Given the description of an element on the screen output the (x, y) to click on. 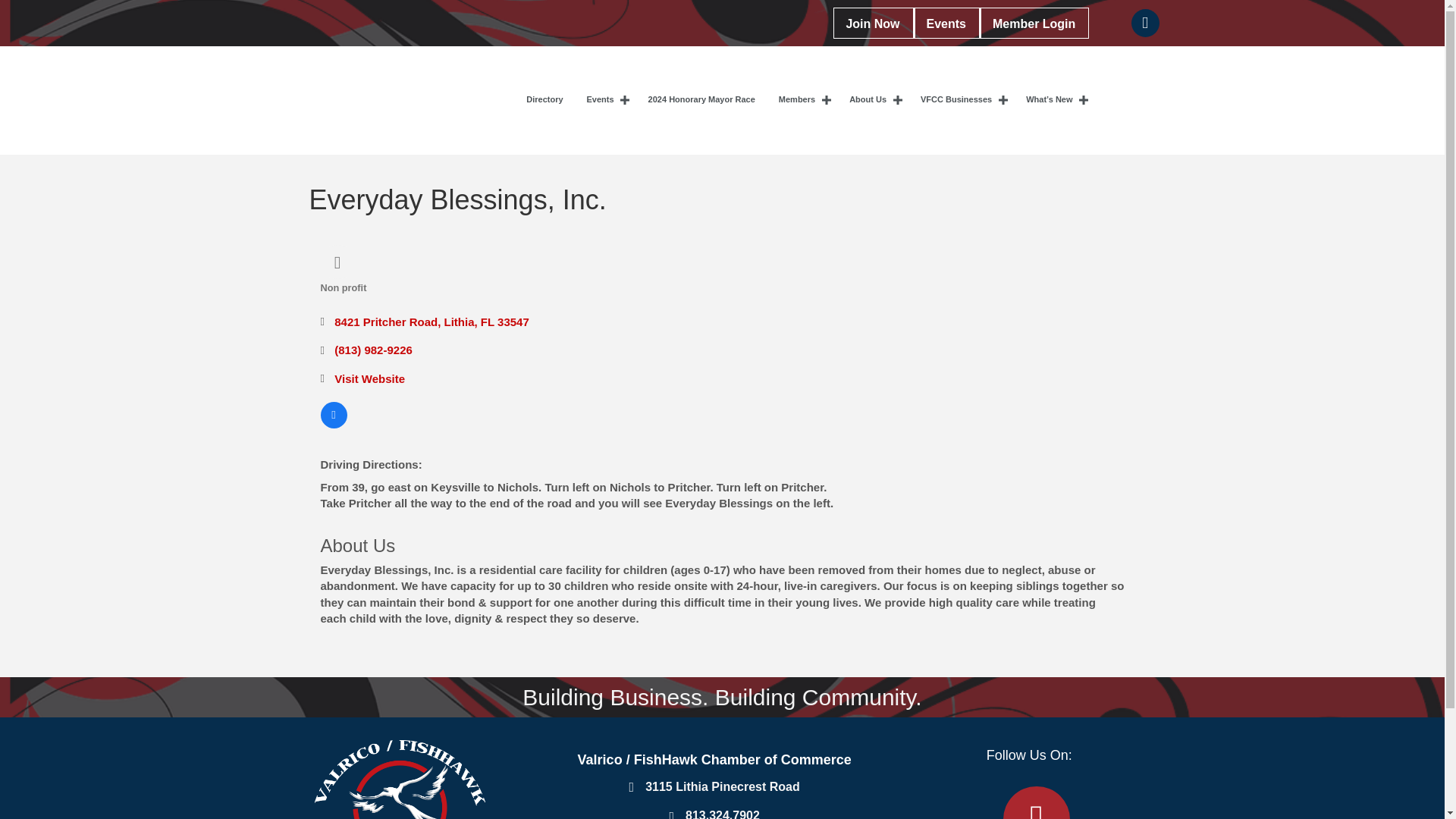
Members (802, 99)
View on Facebook (333, 423)
Directory (544, 99)
Join Now (872, 22)
About Us (873, 99)
Member Login (1034, 22)
2024 Honorary Mayor Race (702, 99)
VFCC Businesses (960, 99)
Events (605, 99)
Events (946, 22)
